Given the description of an element on the screen output the (x, y) to click on. 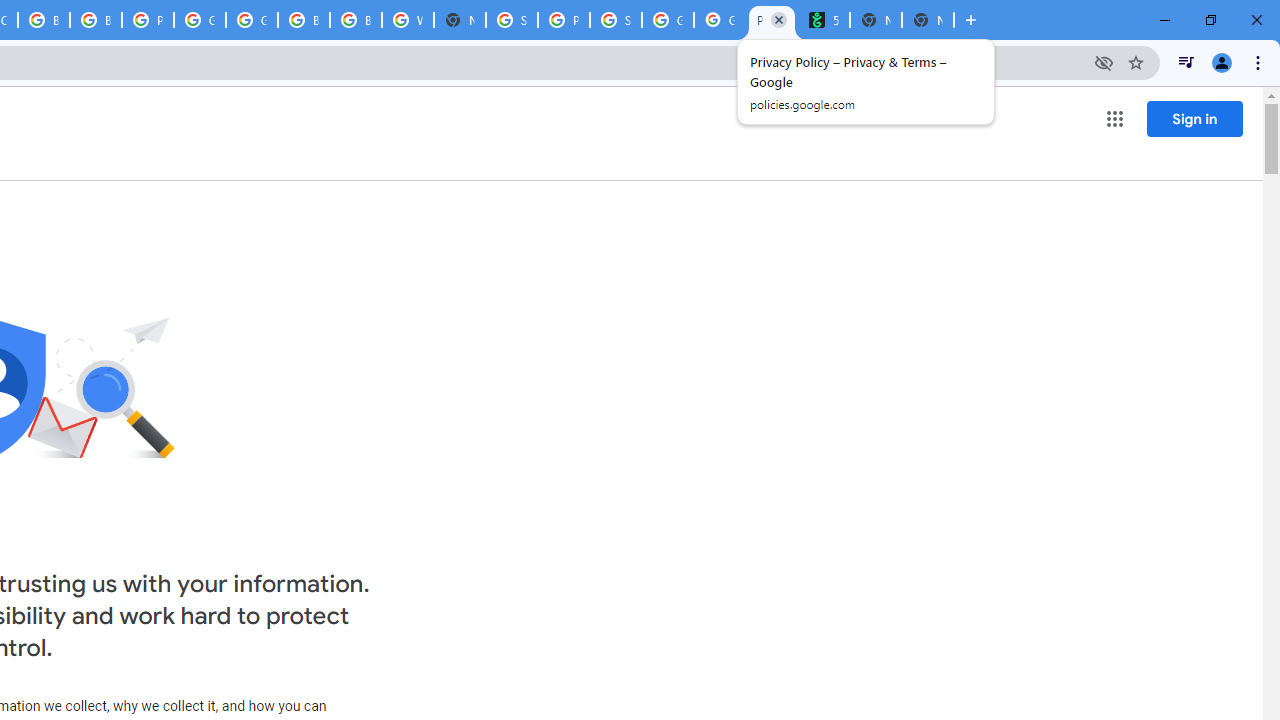
New Tab (927, 20)
Browse Chrome as a guest - Computer - Google Chrome Help (95, 20)
Google Cloud Platform (251, 20)
Browse Chrome as a guest - Computer - Google Chrome Help (303, 20)
Sign in - Google Accounts (511, 20)
